Given the description of an element on the screen output the (x, y) to click on. 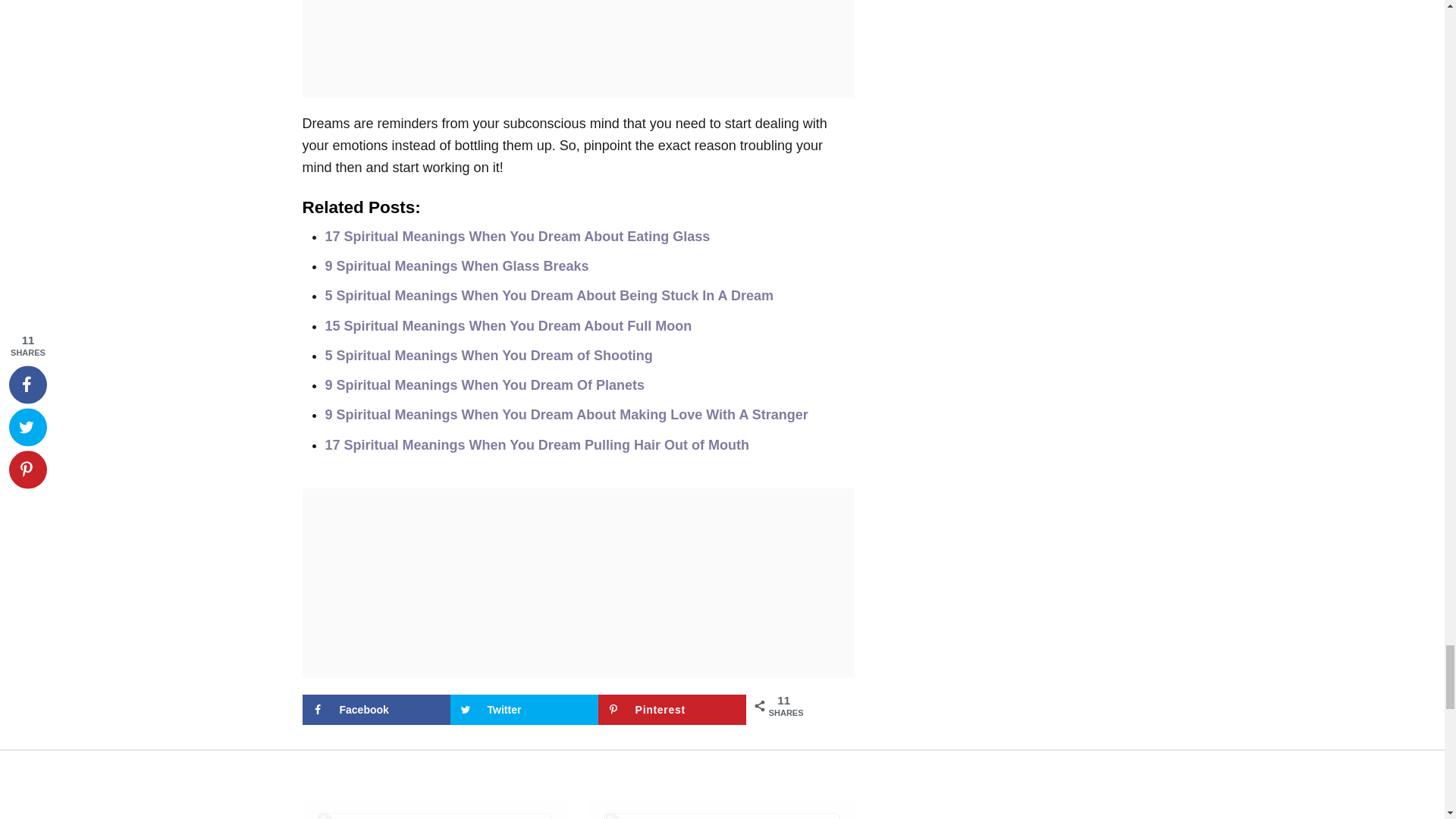
Share on Twitter (523, 709)
Share on Facebook (375, 709)
9 Spiritual Meanings When You Dream Of Planets (483, 385)
5 Spiritual Meanings When You Dream of Shooting (488, 355)
17 Spiritual Meanings When You Dream About Eating Glass (517, 236)
5 Spiritual Meanings When You Dream of Shooting (488, 355)
9 Spiritual Meanings When Glass Breaks (456, 265)
9 Spiritual Meanings When Glass Breaks (456, 265)
9 Spiritual Meanings When You Dream Of Planets (483, 385)
